Given the description of an element on the screen output the (x, y) to click on. 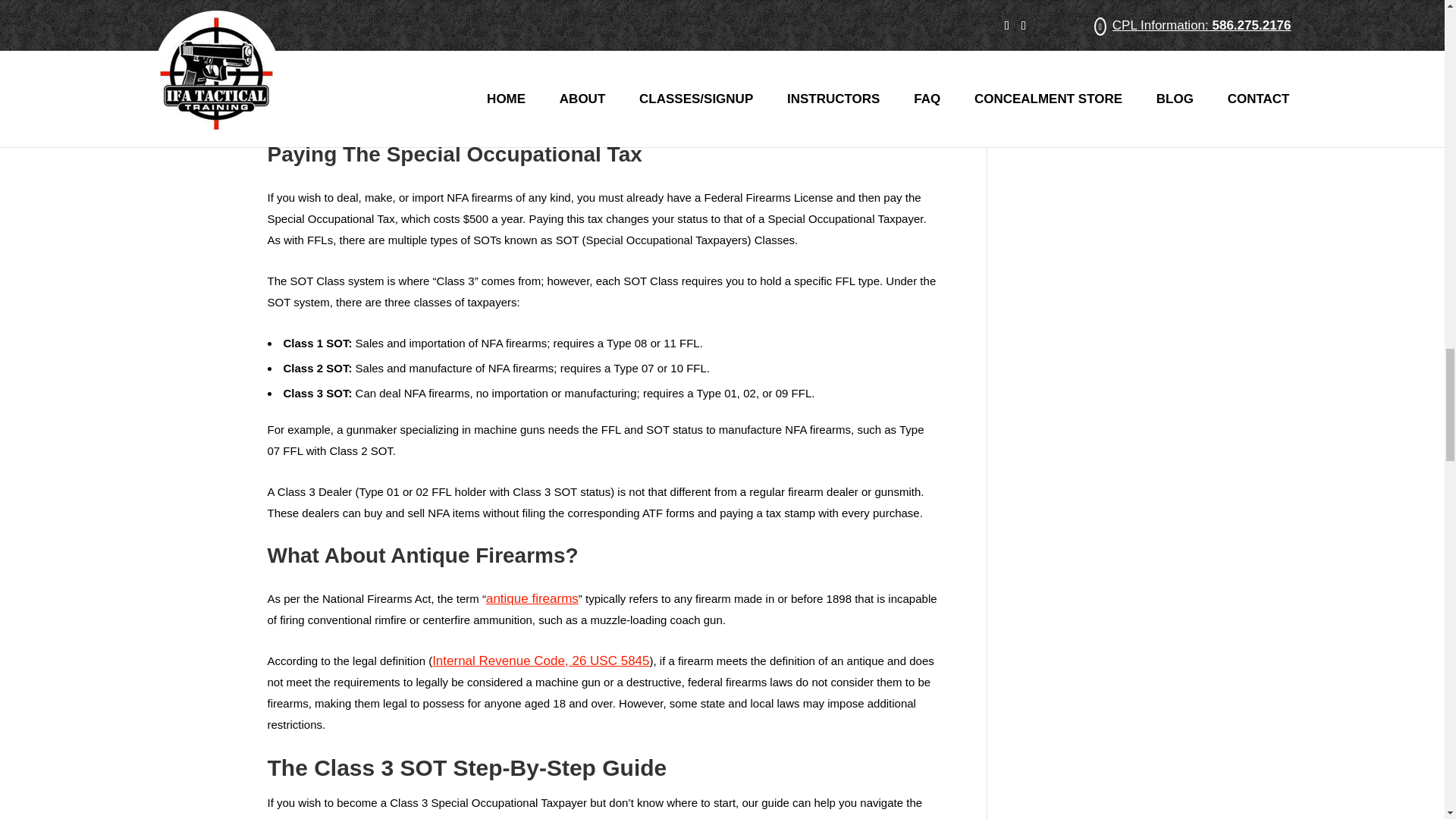
antique firearms (532, 598)
Internal Revenue Code, 26 USC 5845 (540, 660)
